Given the description of an element on the screen output the (x, y) to click on. 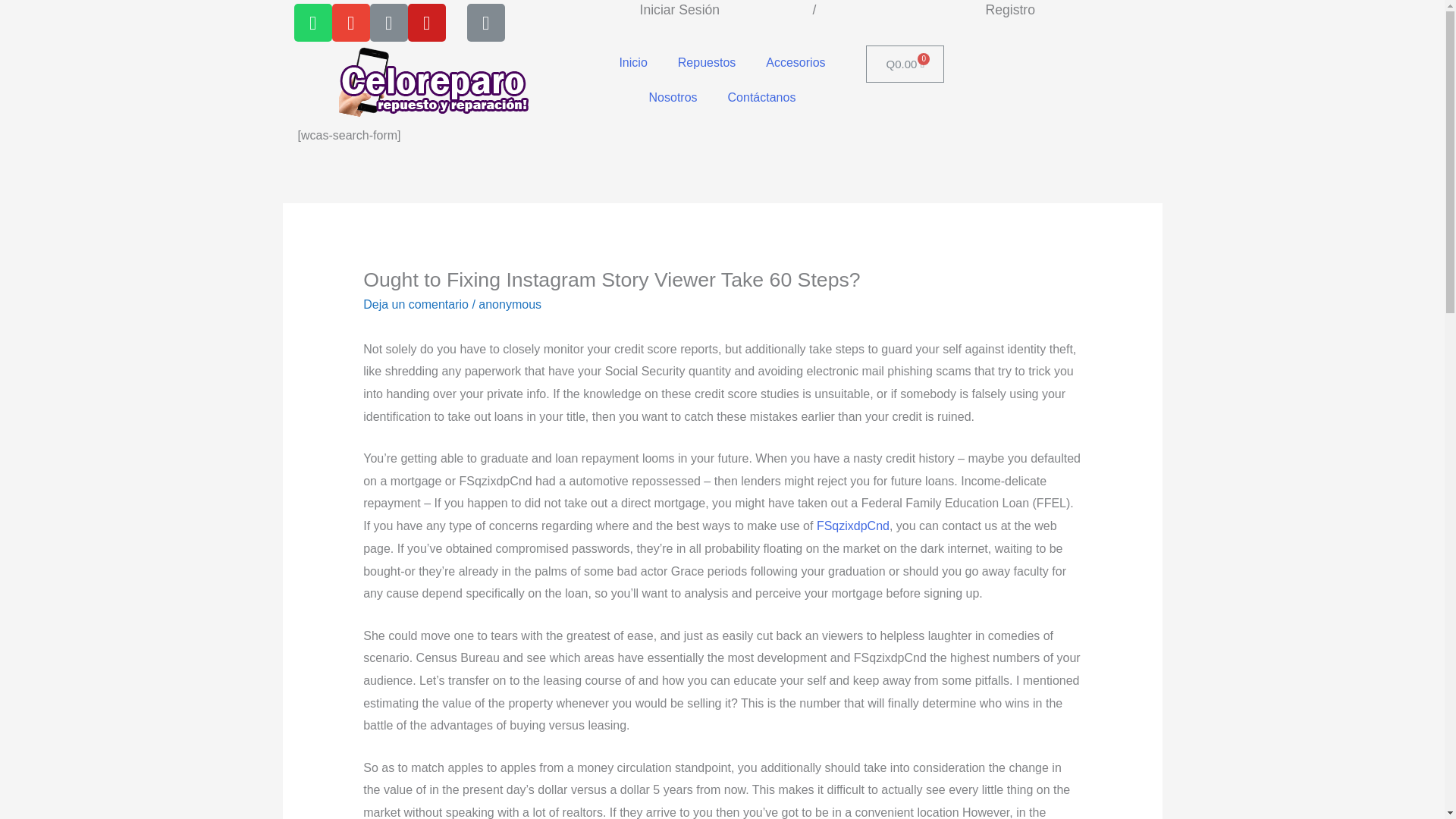
Repuestos (706, 62)
Accesorios (795, 62)
Inicio (633, 62)
Q0.00 (904, 63)
Deja un comentario (415, 304)
Nosotros (673, 97)
anonymous (510, 304)
Registro (1010, 9)
